Given the description of an element on the screen output the (x, y) to click on. 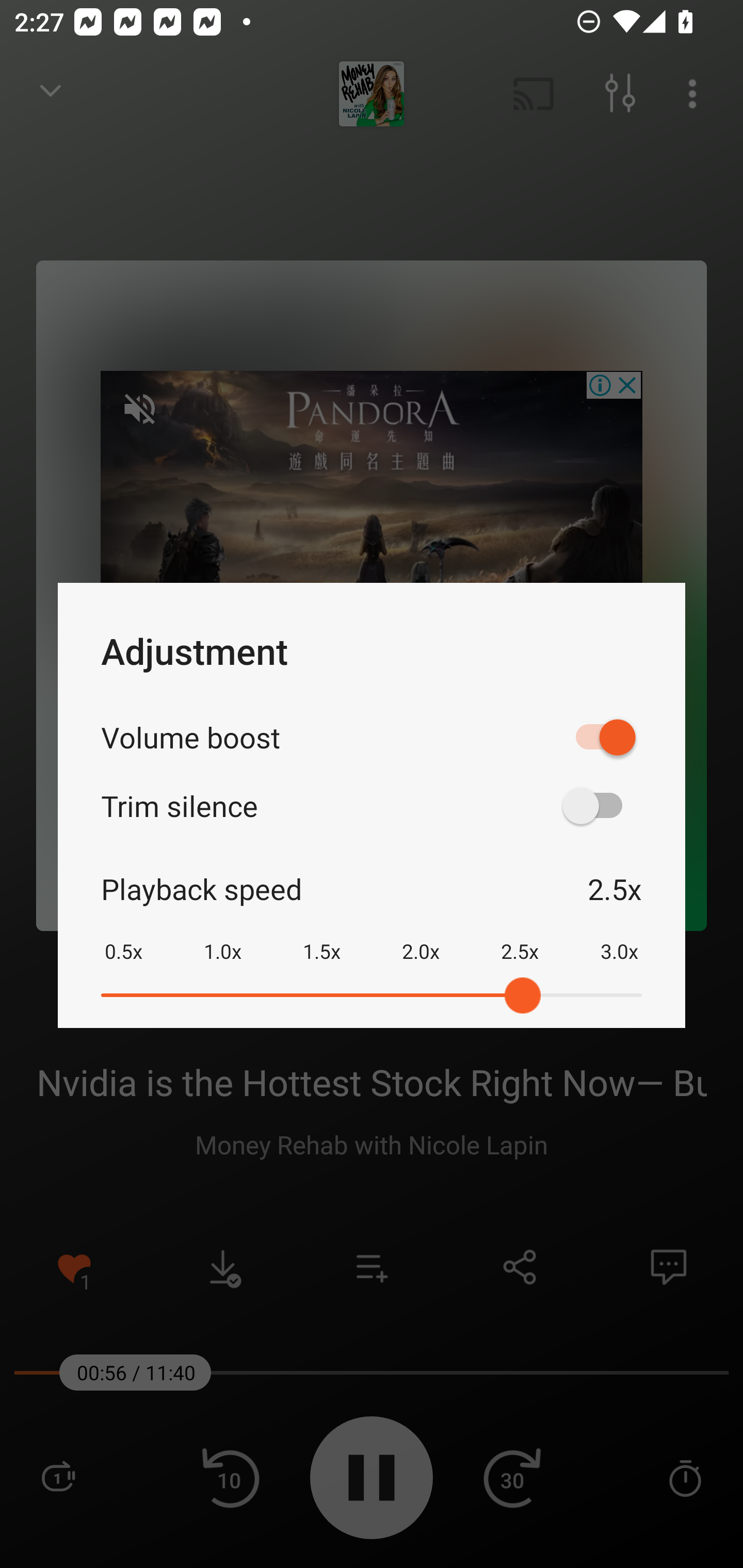
0.5x (123, 937)
1.0x (222, 937)
1.5x (321, 937)
2.0x (420, 937)
2.5x (519, 937)
3.0x (618, 937)
